Given the description of an element on the screen output the (x, y) to click on. 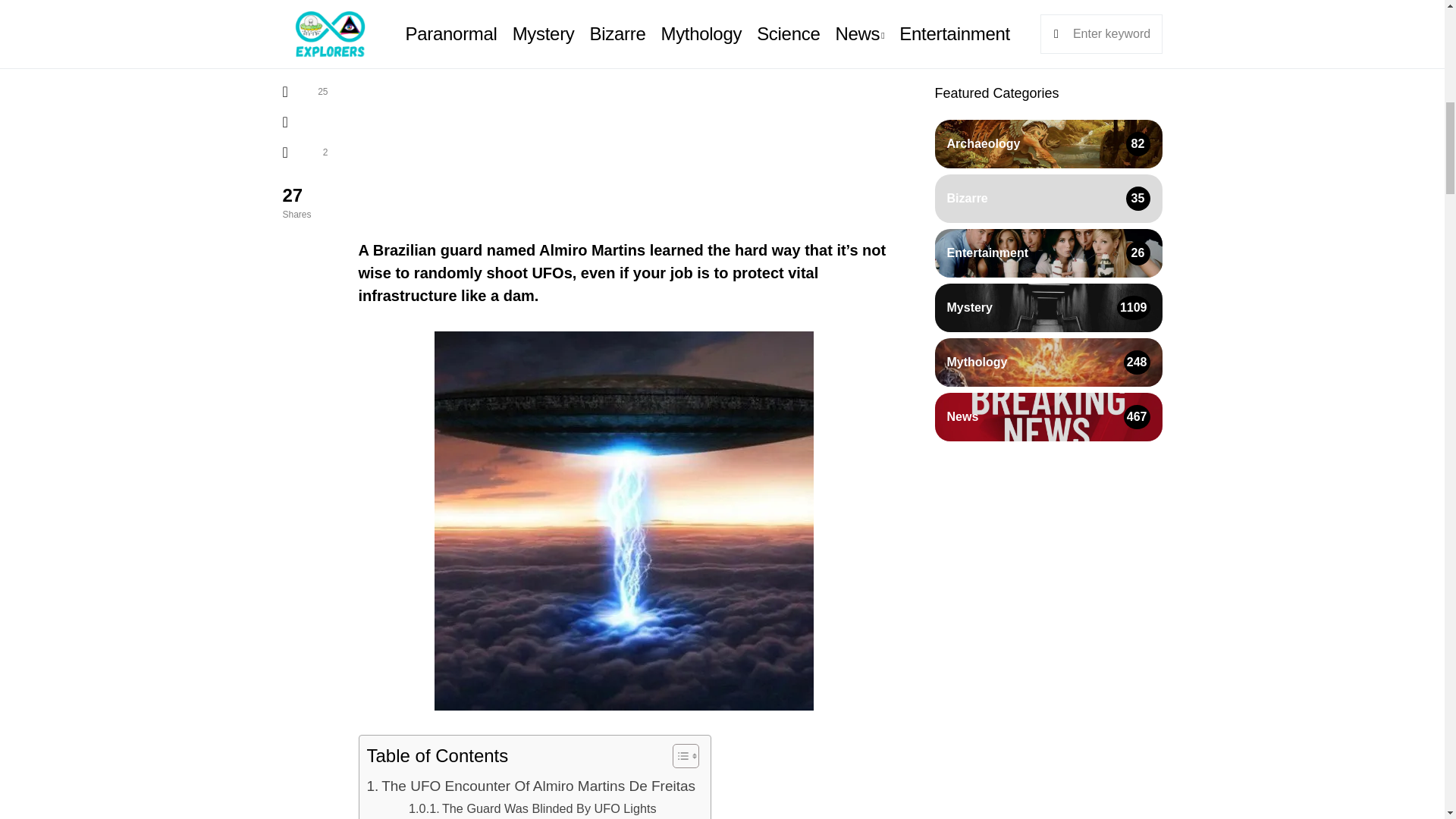
The Guard Was Blinded By UFO Lights (532, 808)
Advertisement (623, 108)
The UFO Encounter Of Almiro Martins De Freitas (530, 785)
